Given the description of an element on the screen output the (x, y) to click on. 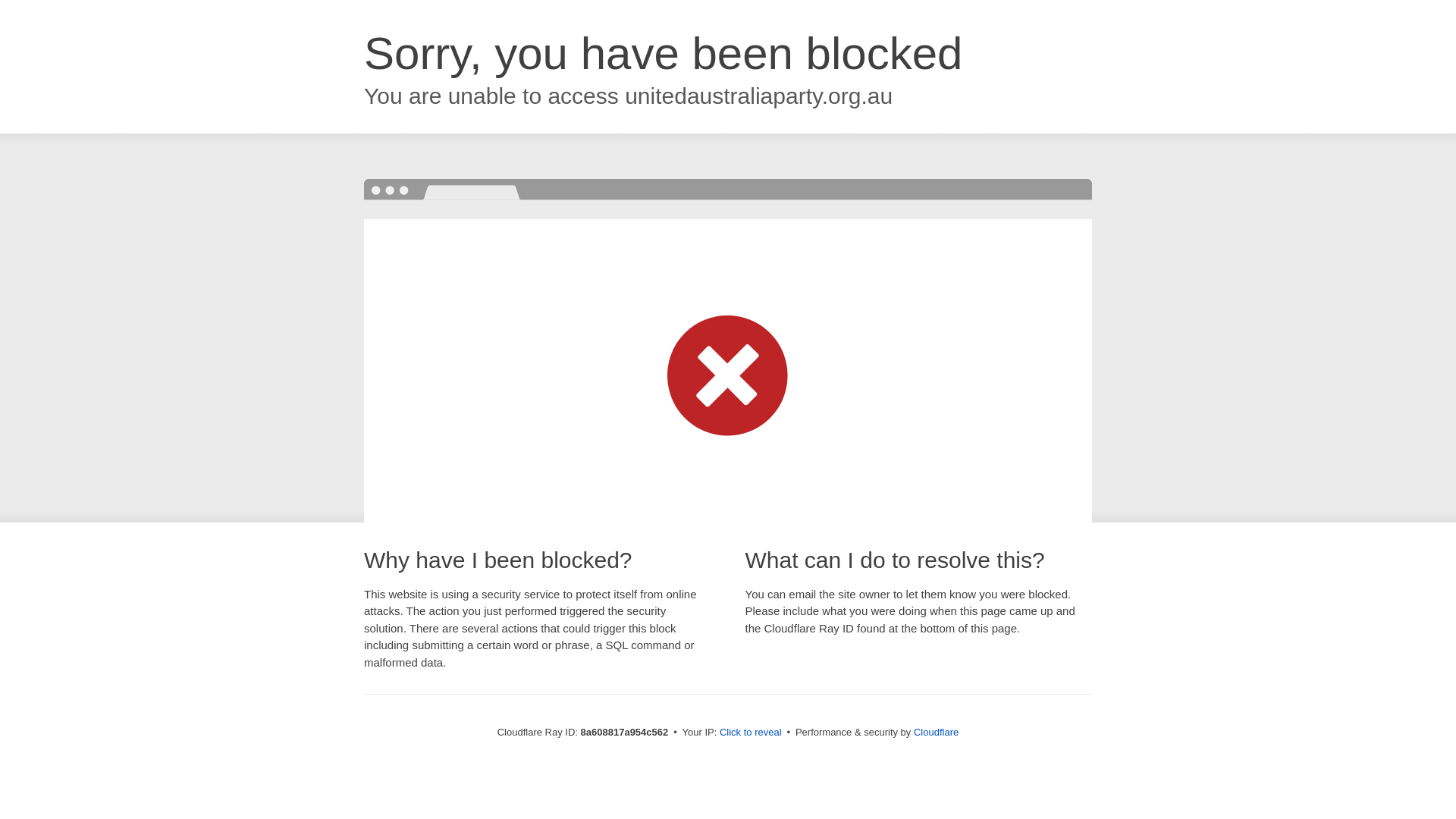
Cloudflare (936, 731)
Click to reveal (750, 732)
